Given the description of an element on the screen output the (x, y) to click on. 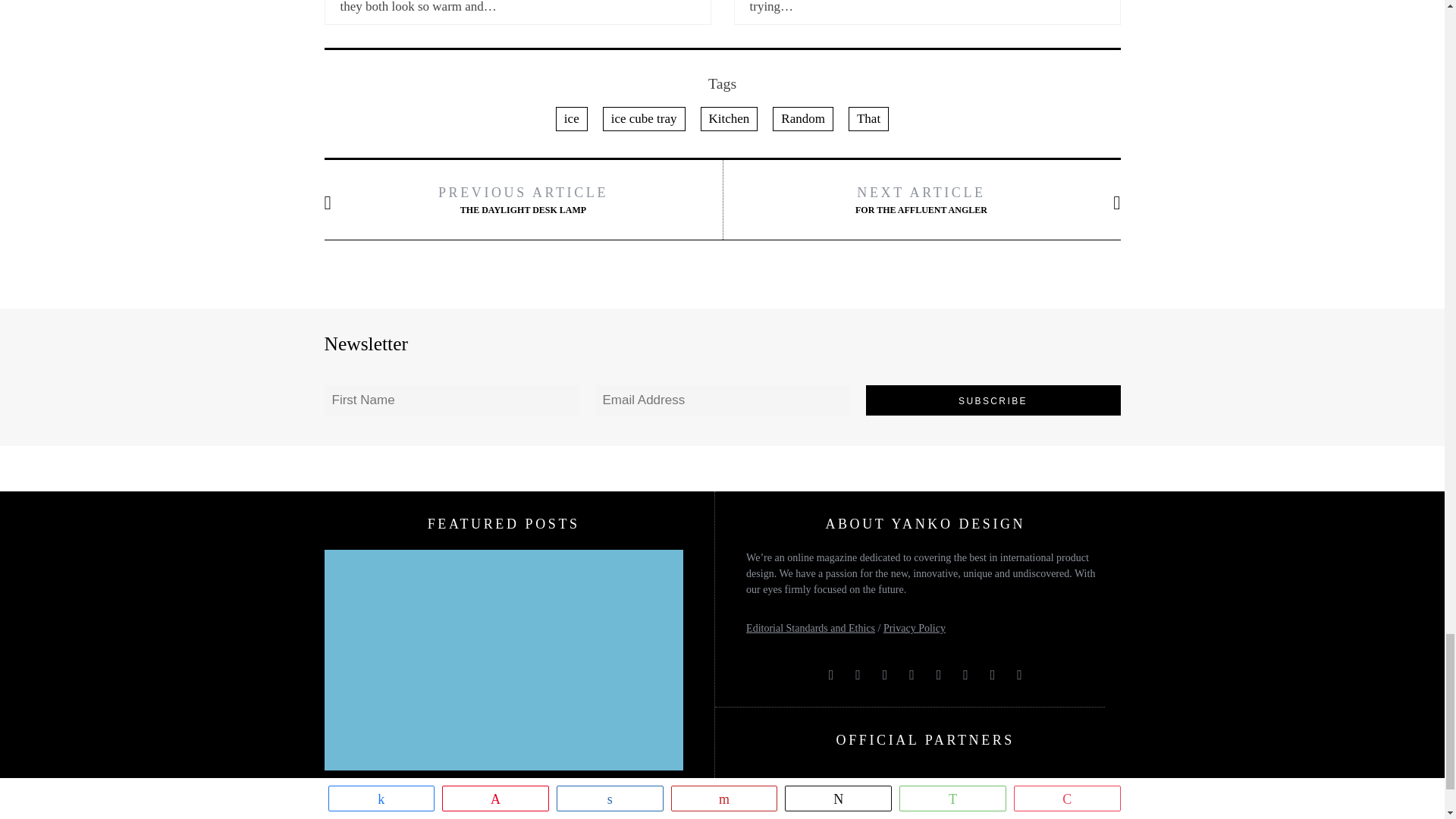
Editorial Standards and Ethics (810, 627)
Privacy Policy (913, 627)
Subscribe (993, 399)
